Given the description of an element on the screen output the (x, y) to click on. 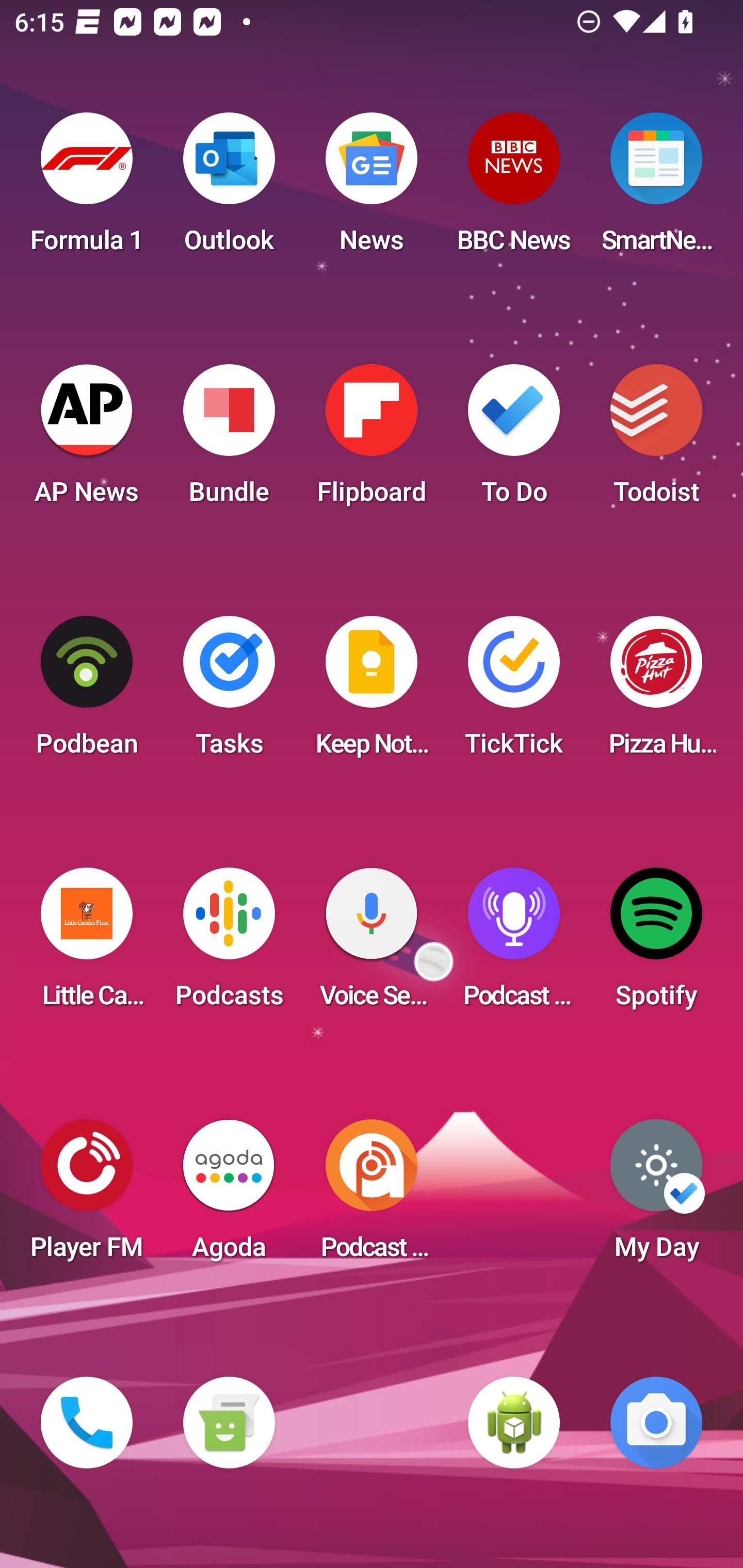
Formula 1 (86, 188)
Outlook (228, 188)
News (371, 188)
BBC News (513, 188)
SmartNews (656, 188)
AP News (86, 440)
Bundle (228, 440)
Flipboard (371, 440)
To Do (513, 440)
Todoist (656, 440)
Podbean (86, 692)
Tasks (228, 692)
Keep Notes (371, 692)
TickTick (513, 692)
Pizza Hut HK & Macau (656, 692)
Little Caesars Pizza (86, 943)
Podcasts (228, 943)
Voice Search (371, 943)
Podcast Player (513, 943)
Spotify (656, 943)
Player FM (86, 1195)
Agoda (228, 1195)
Podcast Addict (371, 1195)
My Day (656, 1195)
Phone (86, 1422)
Messaging (228, 1422)
WebView Browser Tester (513, 1422)
Camera (656, 1422)
